Given the description of an element on the screen output the (x, y) to click on. 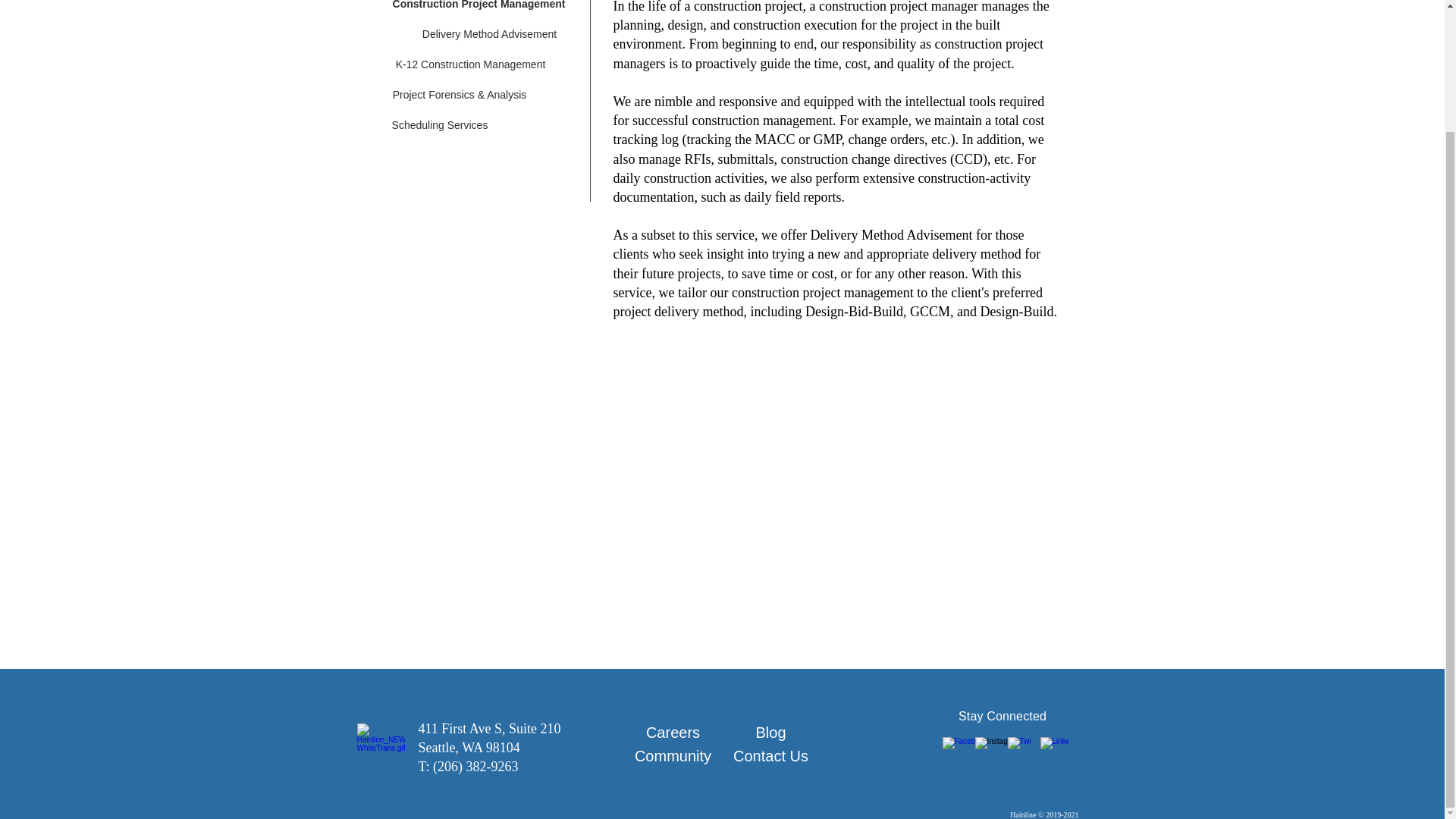
K-12 Construction Management (470, 64)
Careers (672, 732)
GCCM (930, 311)
Design-Build (1015, 311)
Contact Us (771, 756)
Delivery Method Advisement (489, 34)
Construction Project Management (479, 9)
Delivery Method Advisement (891, 234)
Blog (771, 732)
Scheduling Services (440, 125)
